Given the description of an element on the screen output the (x, y) to click on. 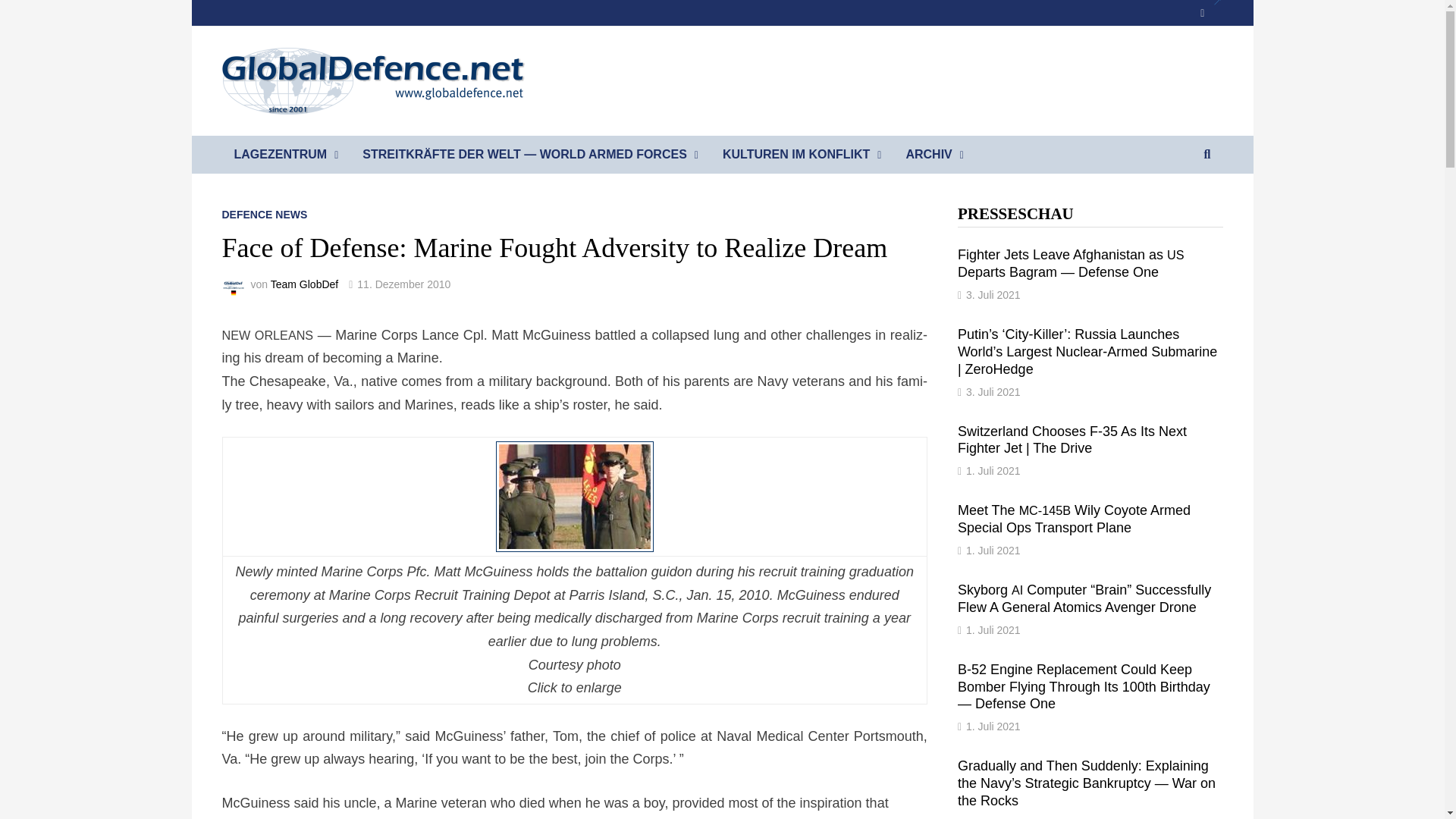
KULTUREN IM KONFLIKT (801, 154)
LAGEZENTRUM (285, 154)
ARCHIV (934, 154)
RSS (1209, 11)
